Given the description of an element on the screen output the (x, y) to click on. 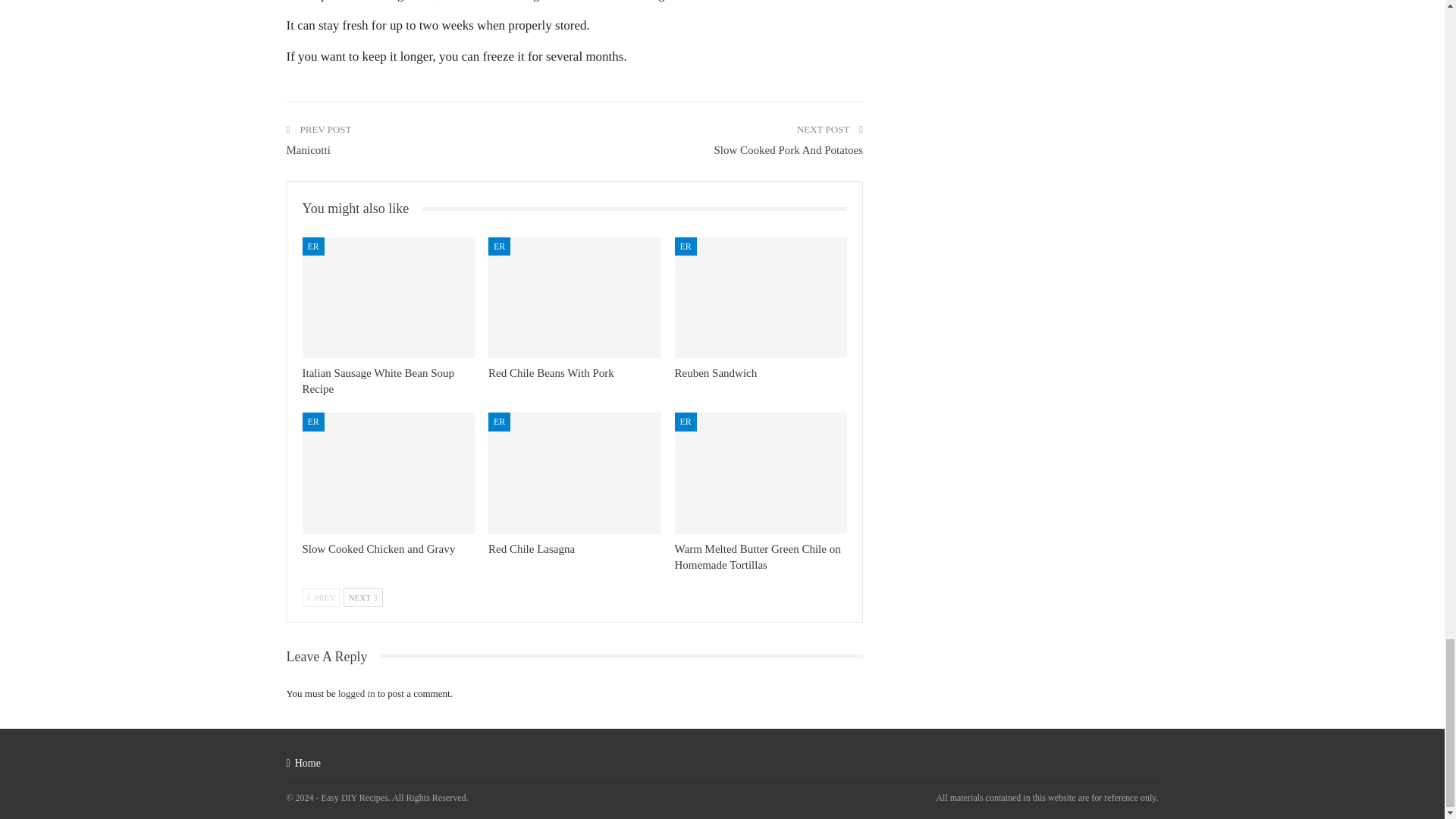
Italian Sausage White Bean Soup Recipe (377, 380)
Red Chile Beans With Pork (574, 297)
Warm Melted Butter Green Chile on Homemade Tortillas (761, 472)
Slow Cooked Chicken and Gravy (377, 548)
Next (362, 597)
ER (312, 421)
ER (686, 246)
Italian Sausage White Bean Soup Recipe (387, 297)
You might also like (361, 208)
Red Chile Beans With Pork (550, 372)
Reuben Sandwich (716, 372)
Slow Cooked Chicken and Gravy (377, 548)
ER (499, 246)
Italian Sausage White Bean Soup Recipe (377, 380)
Red Chile Beans With Pork (550, 372)
